Given the description of an element on the screen output the (x, y) to click on. 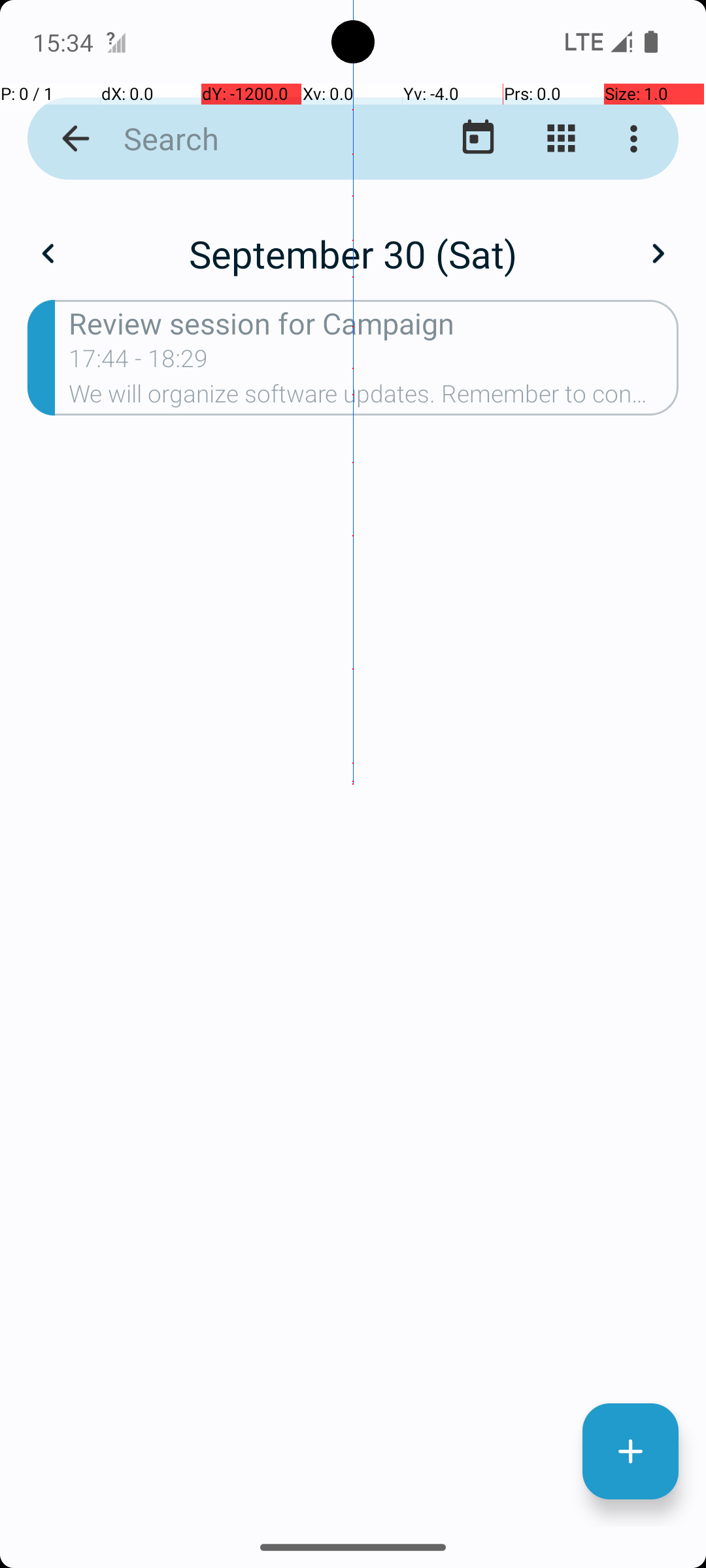
September 30 (Sat) Element type: android.widget.TextView (352, 253)
17:44 - 18:29 Element type: android.widget.TextView (137, 362)
We will organize software updates. Remember to confirm attendance. Element type: android.widget.TextView (373, 397)
